Given the description of an element on the screen output the (x, y) to click on. 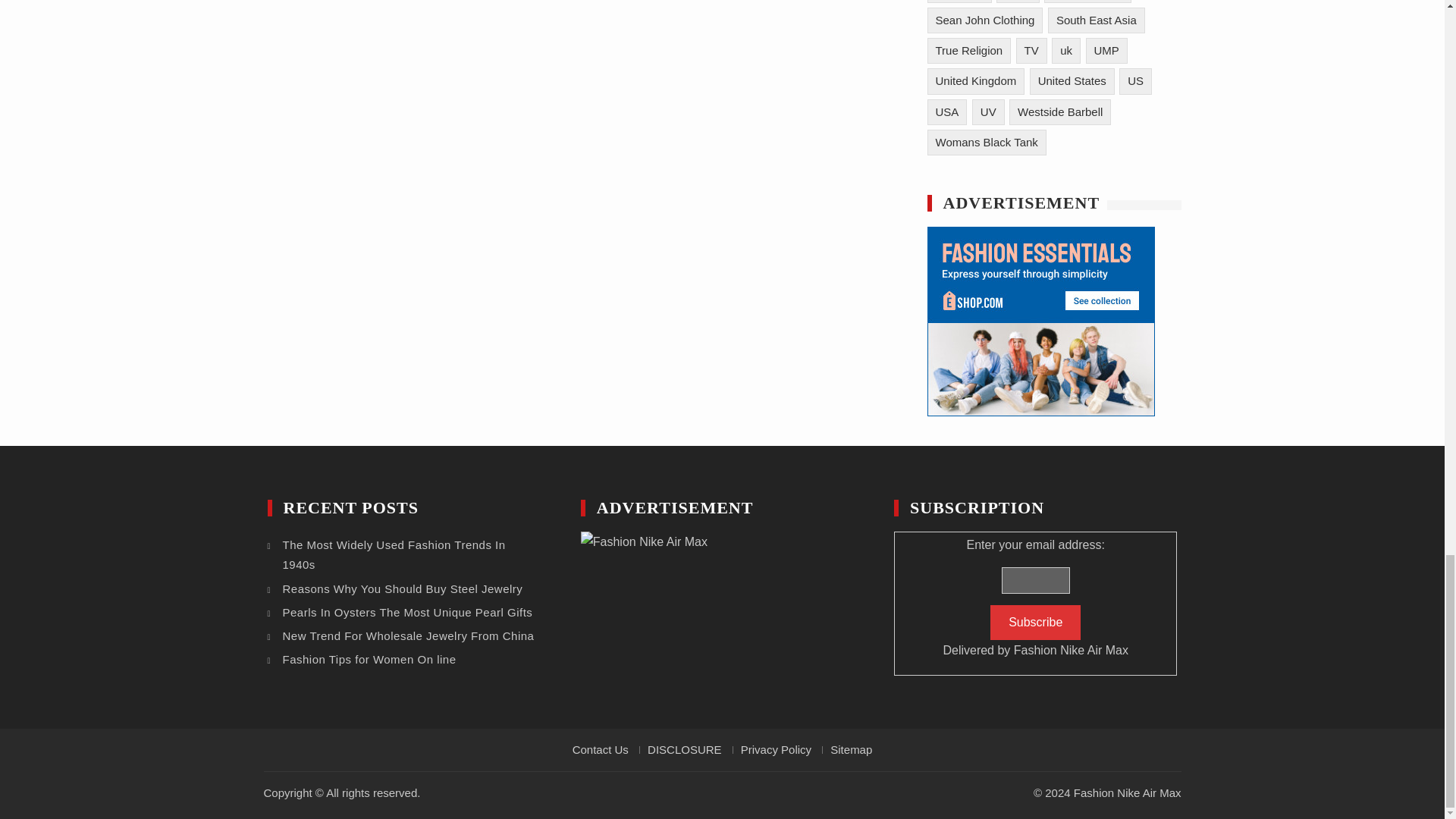
Subscribe (1035, 622)
